Given the description of an element on the screen output the (x, y) to click on. 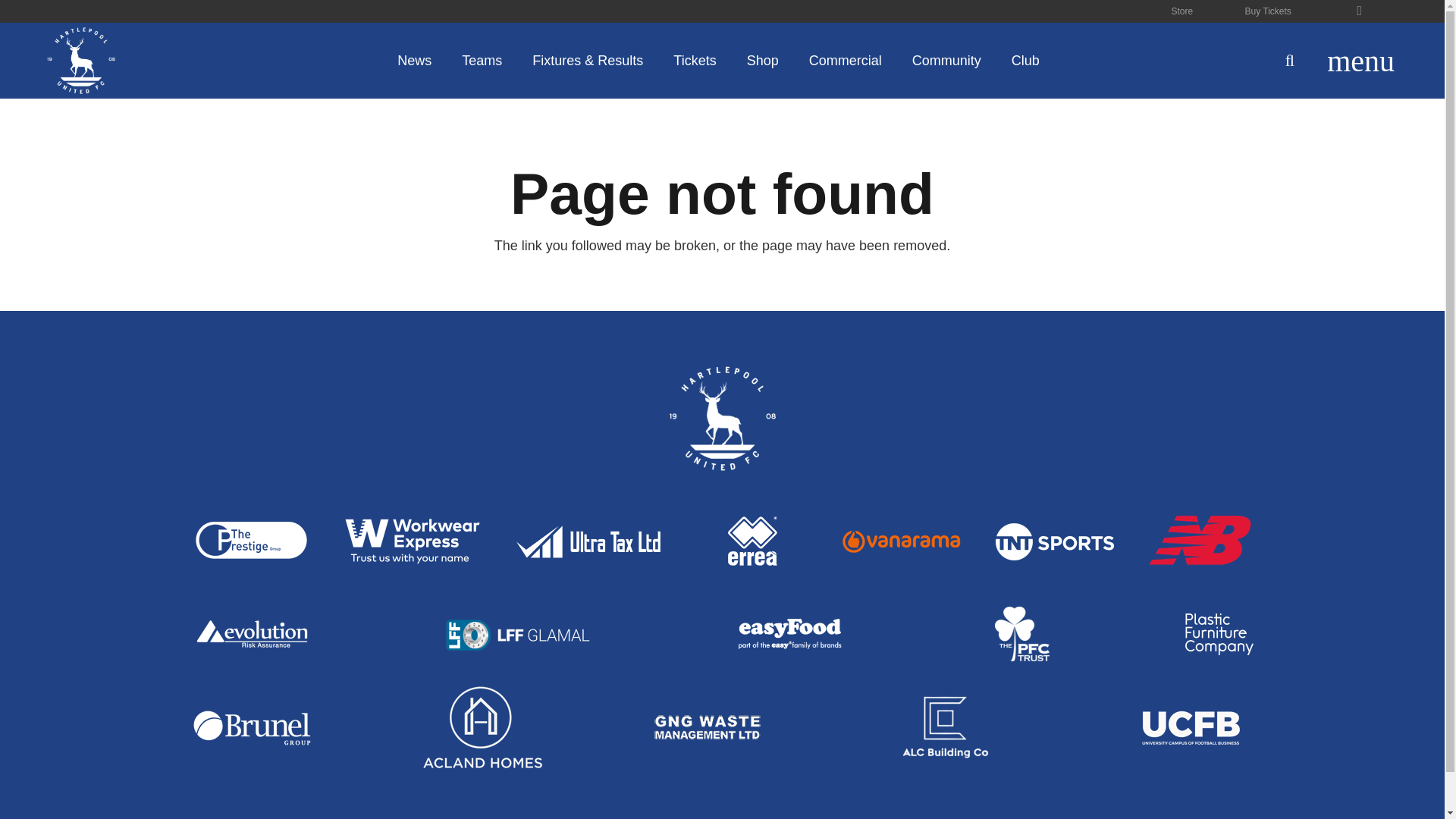
Shop (762, 60)
Store (1181, 12)
Teams (481, 60)
Tickets (694, 60)
Commercial (844, 60)
News (413, 60)
Buy Tickets (1267, 12)
